Given the description of an element on the screen output the (x, y) to click on. 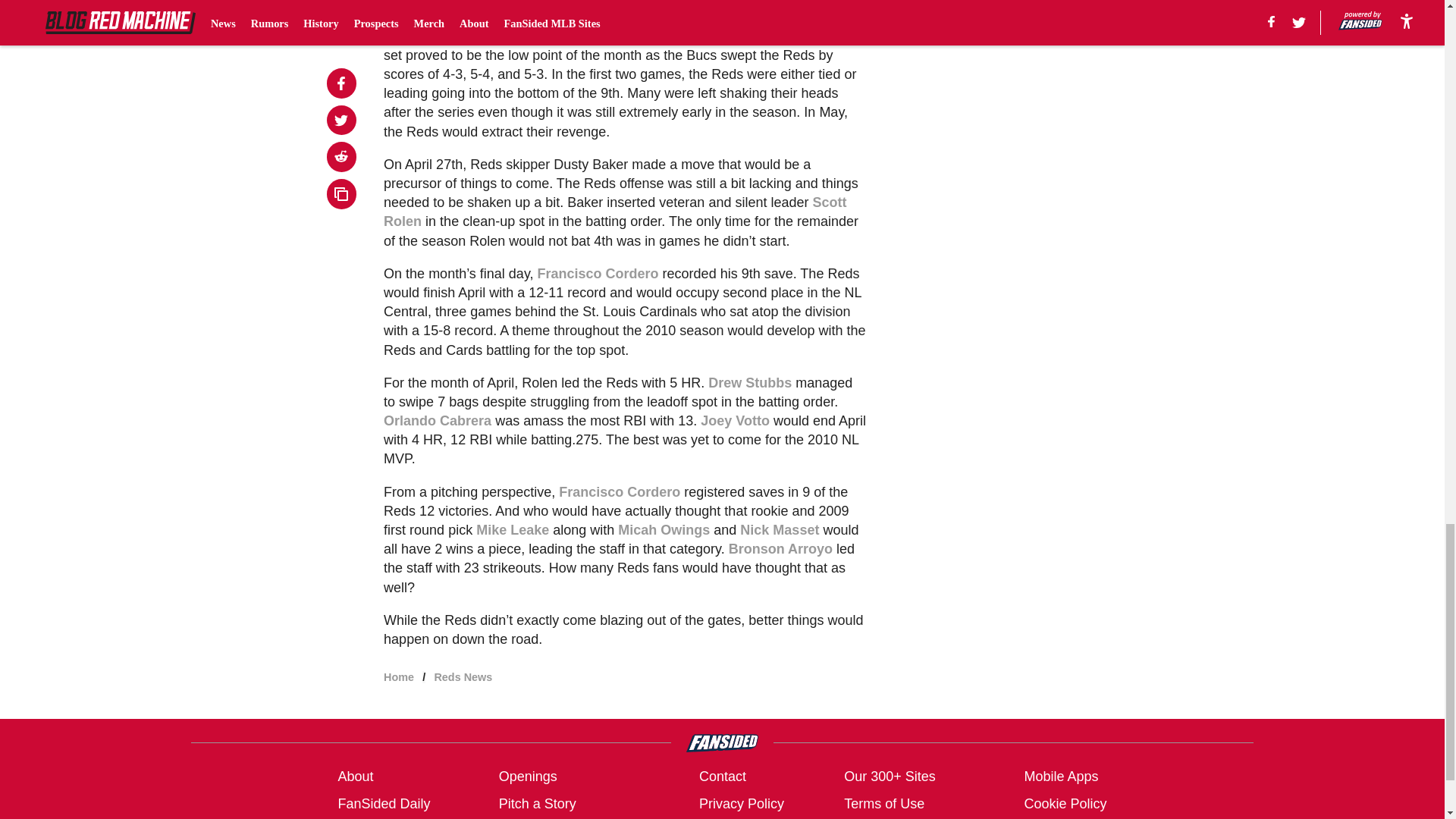
Micah Owings (663, 529)
Orlando Cabrera (438, 420)
Bronson Arroyo (780, 548)
Nick Masset (778, 529)
Scott Rolen (614, 211)
Mike Leake (512, 529)
Joey Votto (735, 420)
Home (398, 676)
Francisco Cordero (619, 491)
Francisco Cordero (598, 273)
Drew Stubbs (749, 382)
